Given the description of an element on the screen output the (x, y) to click on. 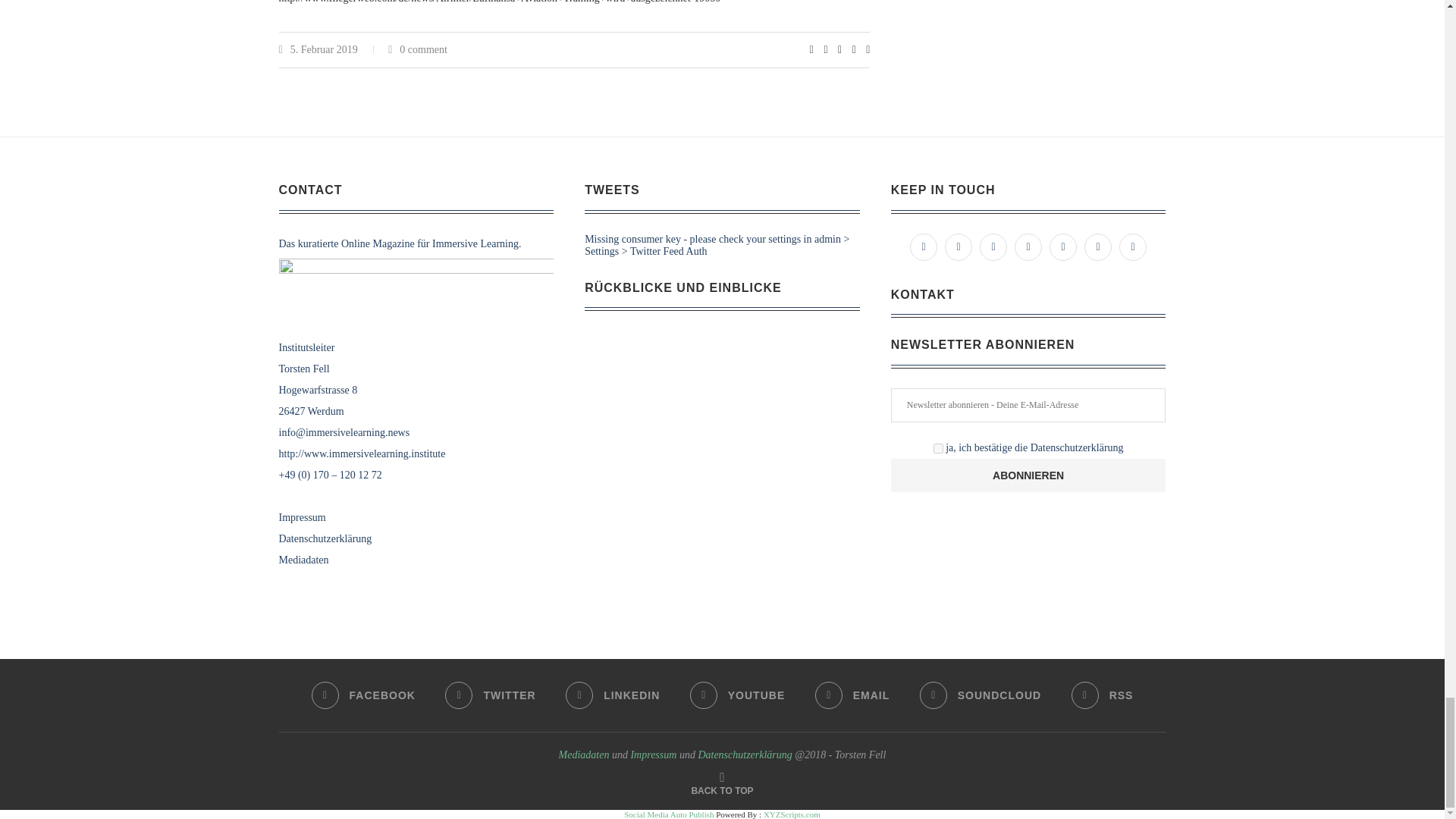
1 (938, 448)
Abonnieren (1028, 475)
